Given the description of an element on the screen output the (x, y) to click on. 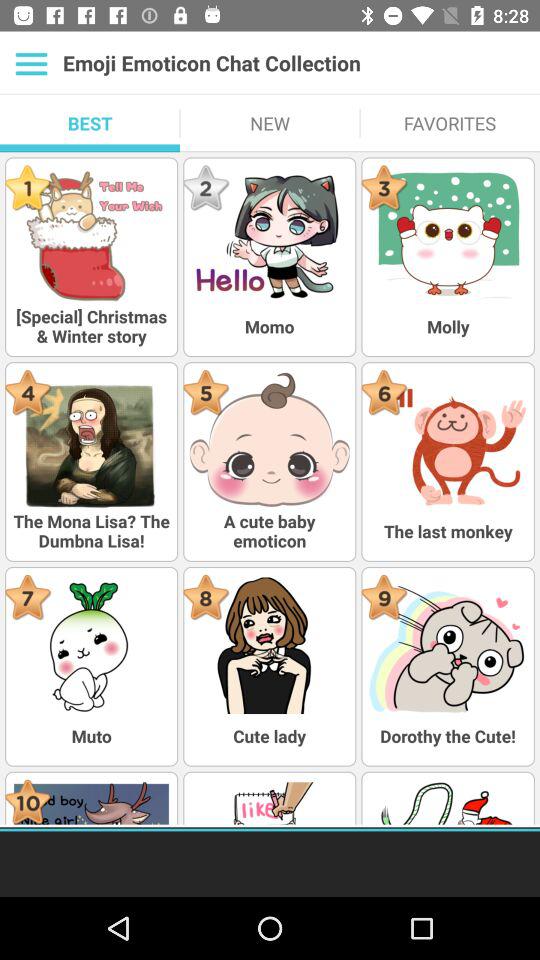
launch the favorites icon (450, 123)
